Given the description of an element on the screen output the (x, y) to click on. 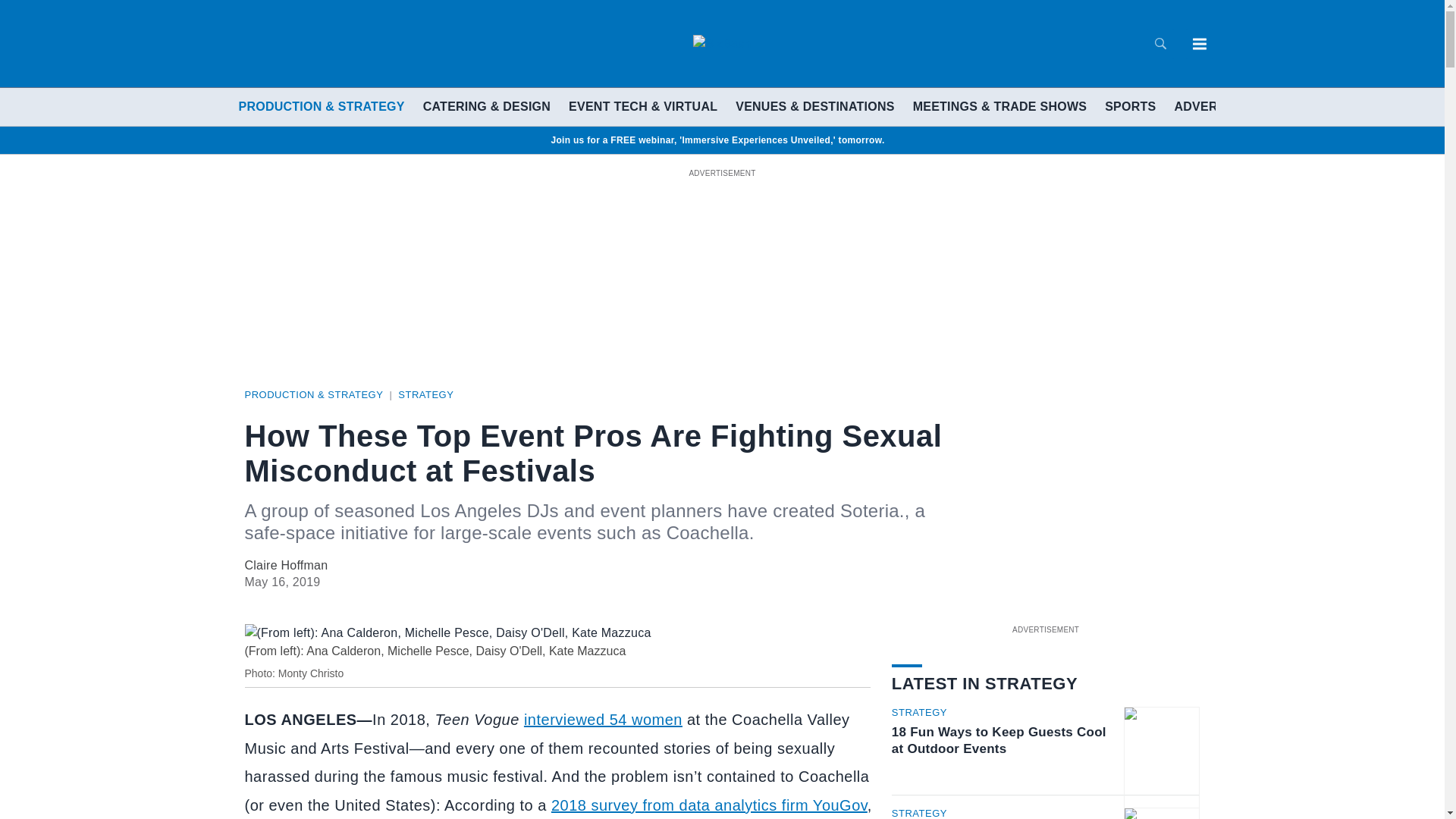
ADVERTISE (1208, 106)
Strategy (424, 394)
EVENTS (1288, 106)
SPORTS (1130, 106)
